Given the description of an element on the screen output the (x, y) to click on. 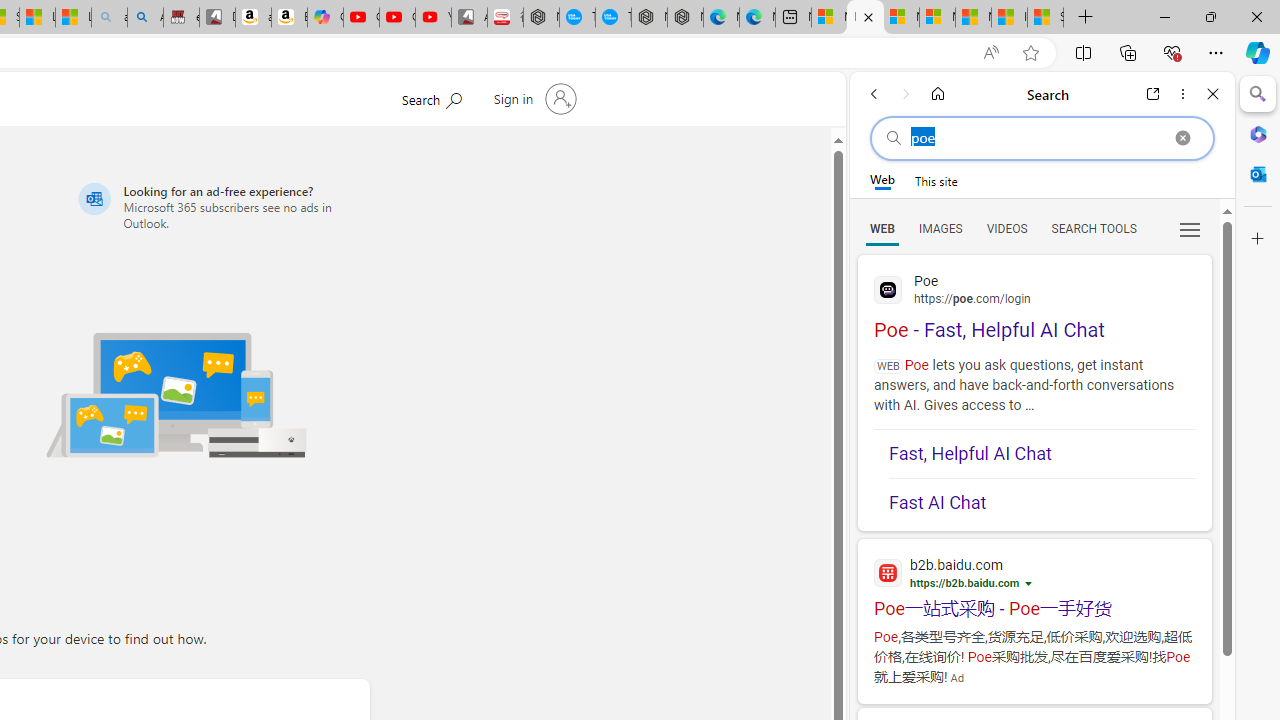
Forward (906, 93)
Clear (1182, 137)
Fast AI Chat (1042, 496)
Customize (1258, 239)
YouTube Kids - An App Created for Kids to Explore Content (433, 17)
Class: b_serphb (1190, 229)
Preferences (1189, 228)
Microsoft 365 (1258, 133)
Search Filter, VIDEOS (1006, 228)
Looking for an ad-free experience? (220, 206)
